Given the description of an element on the screen output the (x, y) to click on. 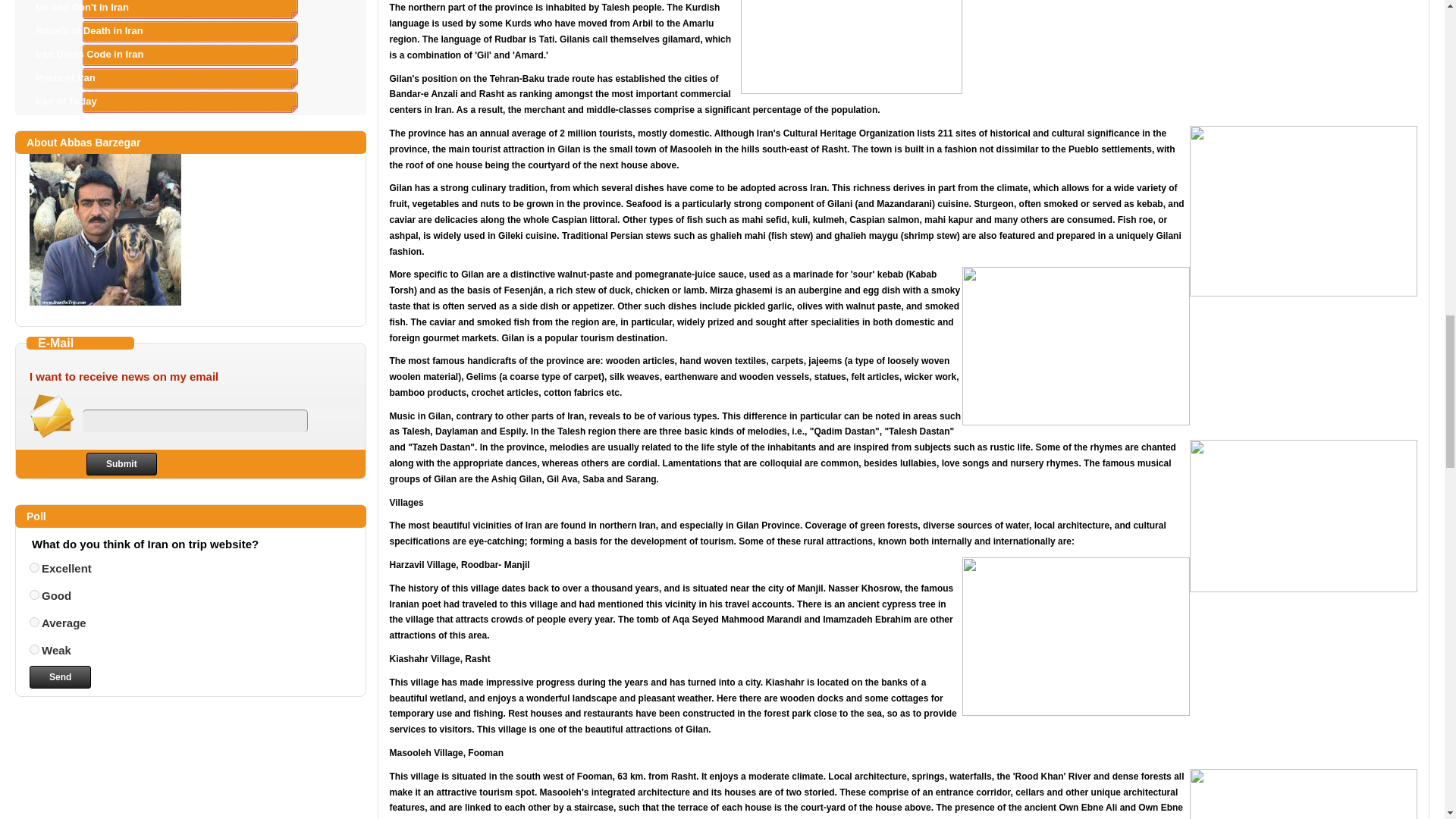
   Send     (59, 676)
20 (34, 622)
19 (34, 594)
  Submit   (121, 463)
18 (34, 567)
21 (34, 649)
